Given the description of an element on the screen output the (x, y) to click on. 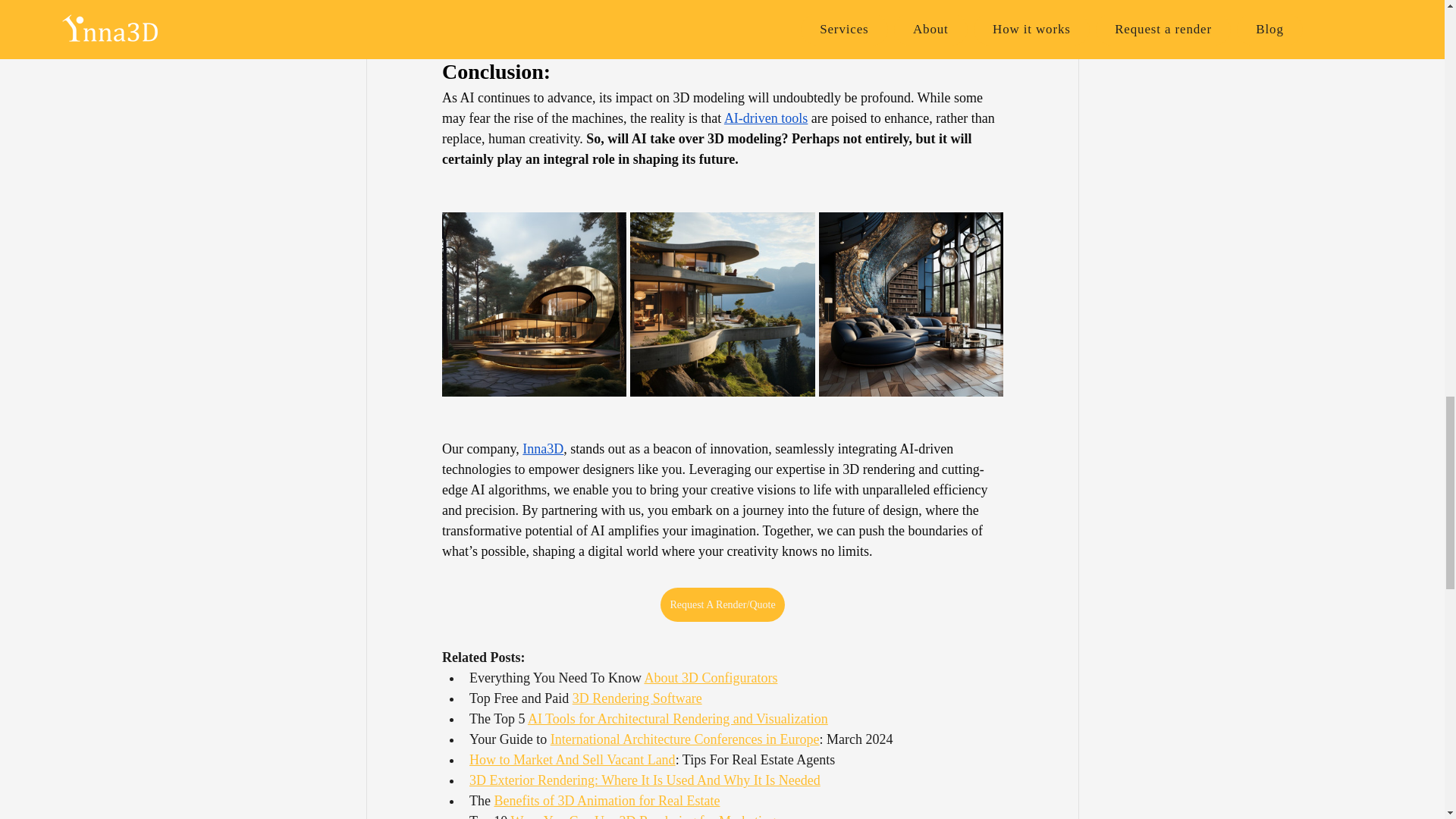
AI-driven tools (764, 118)
3D Exterior Rendering: Where It Is Used And Why It Is Needed (643, 780)
Applications and Use Cases of Virtual Reality (660, 24)
About 3D Configurators (710, 677)
Applications and Use Cases of Augmented Reality (672, 6)
Inna3D (542, 448)
AI Tools for Architectural Rendering and Visualization (677, 718)
International Architecture Conferences in Europe (684, 739)
3D Rendering Software (636, 698)
Ways You Can Use 3D Rendering for Marketing (643, 816)
Benefits of 3D Animation for Real Estate (606, 800)
How to Market And Sell Vacant Land (571, 759)
